Given the description of an element on the screen output the (x, y) to click on. 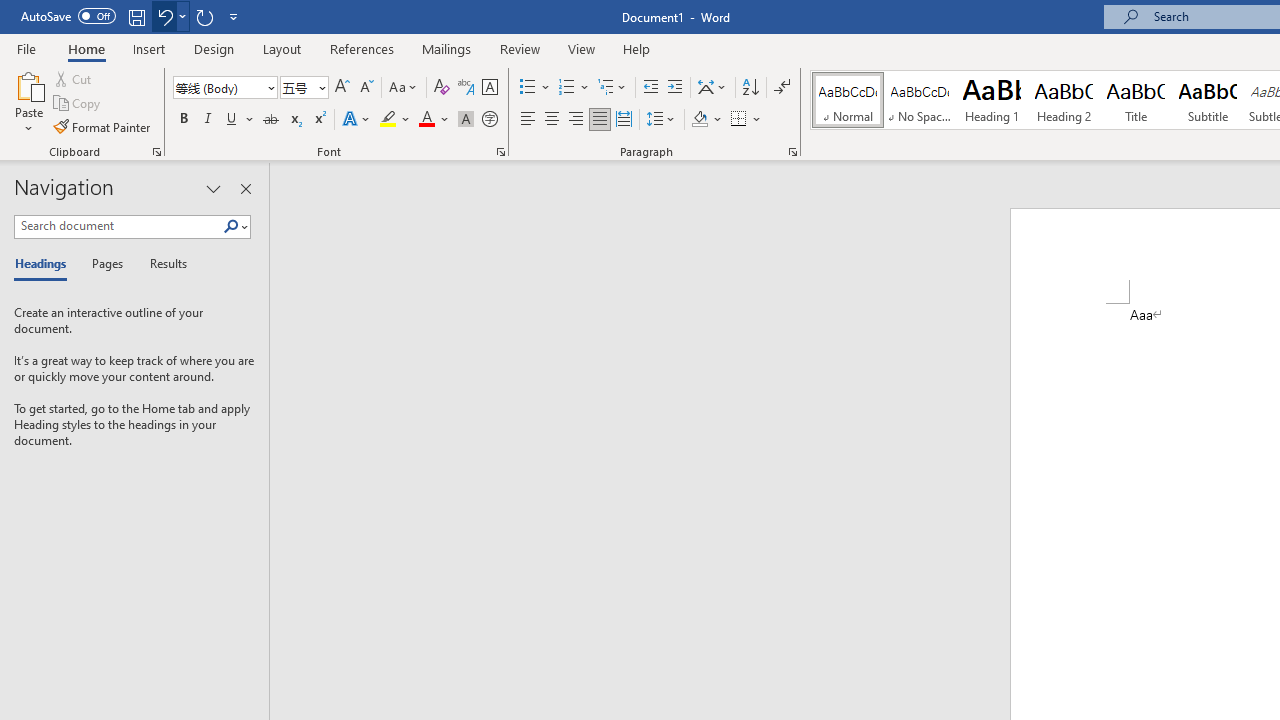
Undo AutoCorrect (170, 15)
